Given the description of an element on the screen output the (x, y) to click on. 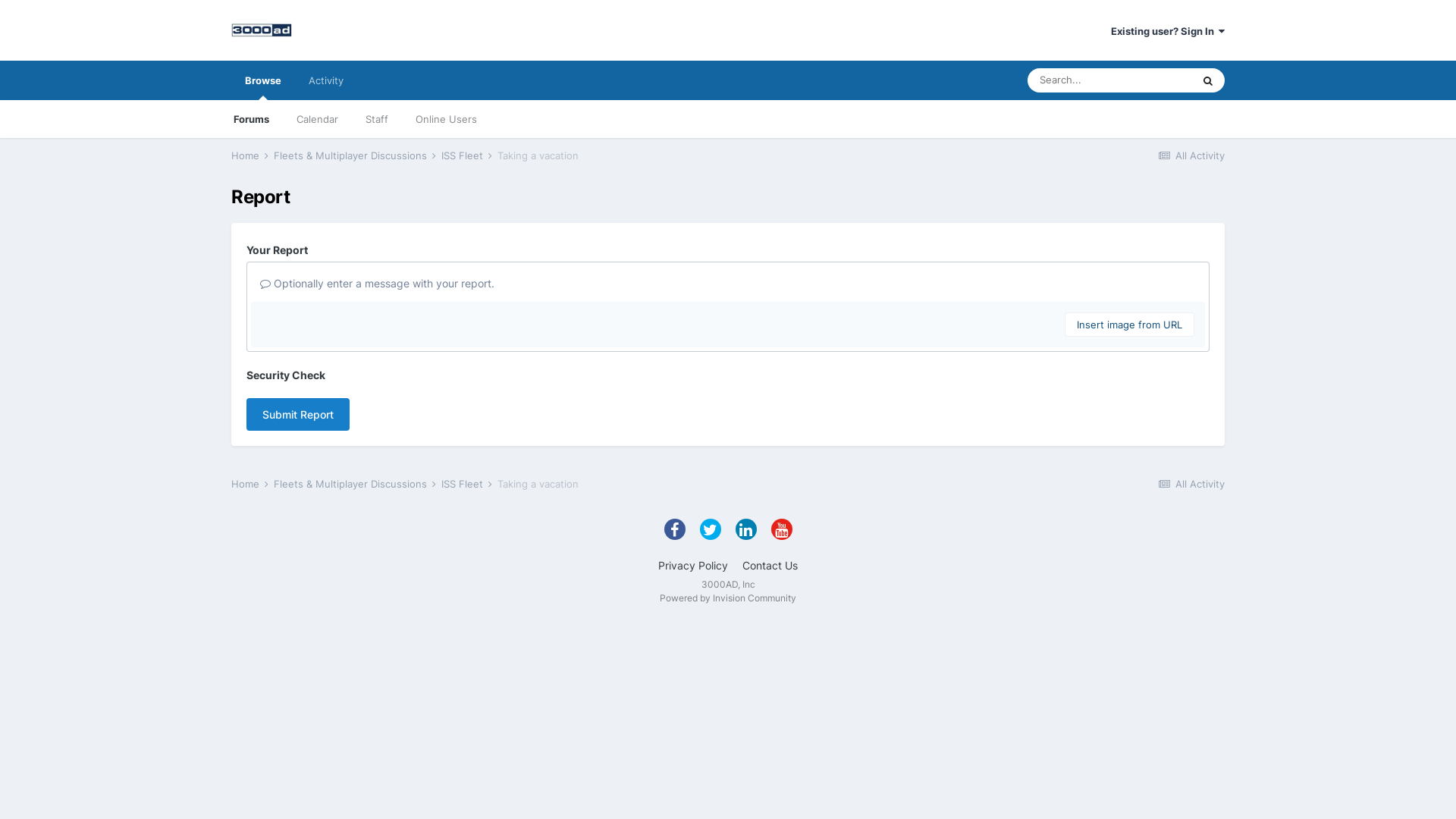
All Activity Element type: text (1190, 154)
Calendar Element type: text (316, 119)
ISS Fleet Element type: text (467, 154)
Existing user? Sign In   Element type: text (1167, 31)
Taking a vacation Element type: text (537, 483)
Online Users Element type: text (445, 119)
Taking a vacation Element type: text (537, 154)
Browse Element type: text (262, 80)
Submit Report Element type: text (297, 414)
Insert image from URL Element type: text (1129, 324)
Fleets & Multiplayer Discussions Element type: text (355, 483)
Forums Element type: text (250, 119)
Home Element type: text (250, 154)
Powered by Invision Community Element type: text (727, 596)
All Activity Element type: text (1190, 483)
Contact Us Element type: text (769, 564)
Fleets & Multiplayer Discussions Element type: text (355, 154)
Privacy Policy Element type: text (693, 564)
Staff Element type: text (376, 119)
ISS Fleet Element type: text (467, 483)
Home Element type: text (250, 483)
Activity Element type: text (325, 80)
